Given the description of an element on the screen output the (x, y) to click on. 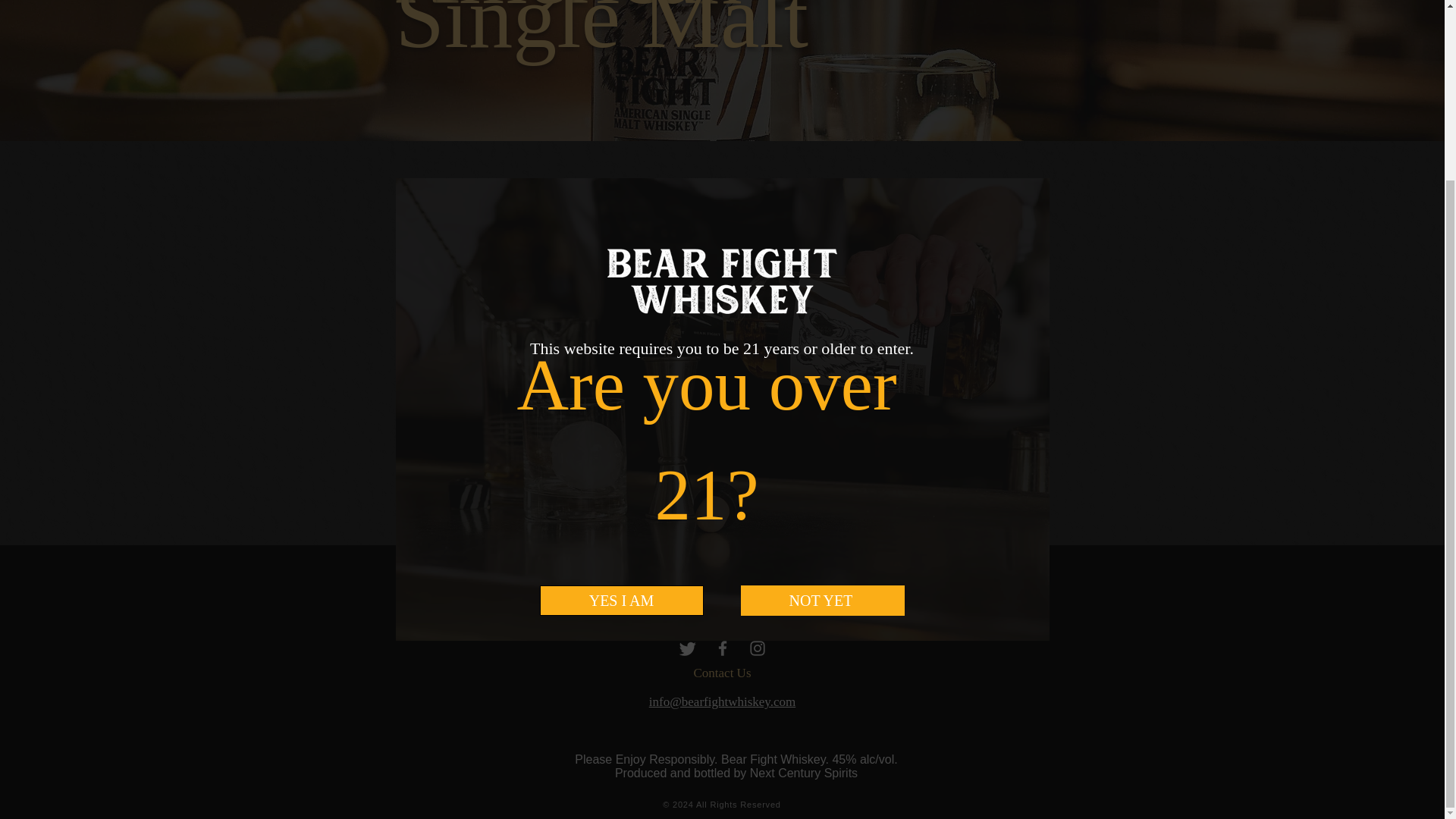
NOT YET (821, 379)
BEAR FIGHT 2.png (721, 60)
